Given the description of an element on the screen output the (x, y) to click on. 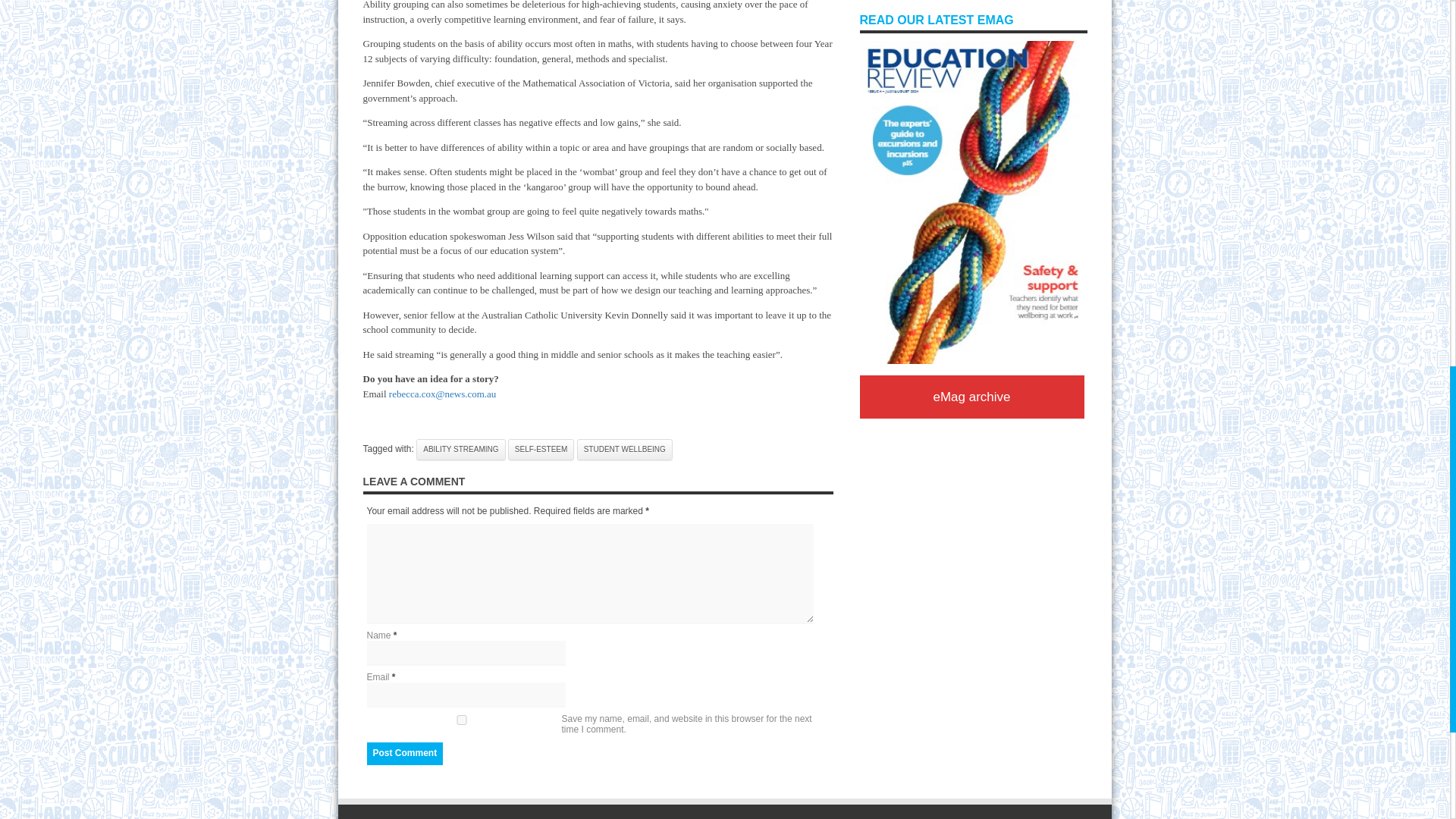
Post Comment (405, 753)
STUDENT WELLBEING (624, 448)
SELF-ESTEEM (540, 448)
yes (461, 718)
ABILITY STREAMING (460, 448)
